Given the description of an element on the screen output the (x, y) to click on. 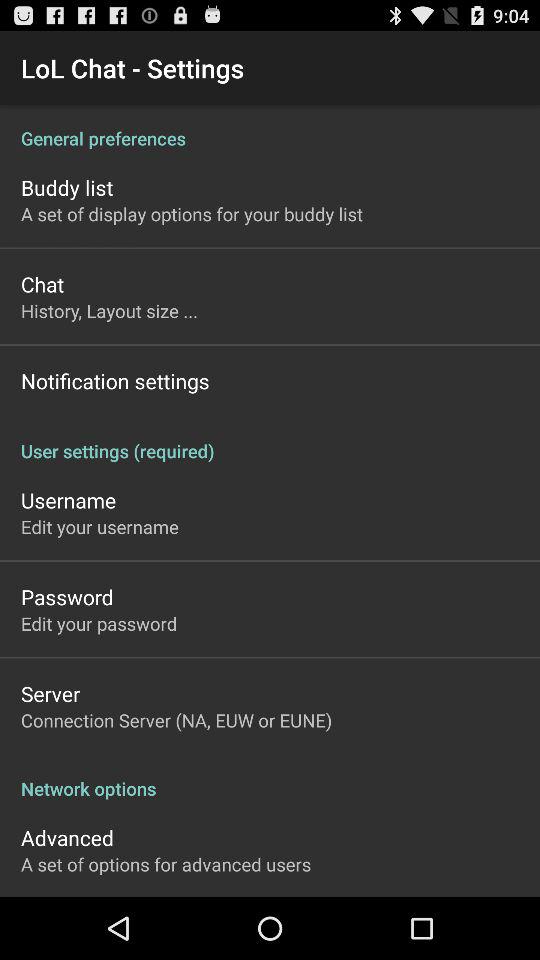
press general preferences (270, 127)
